Given the description of an element on the screen output the (x, y) to click on. 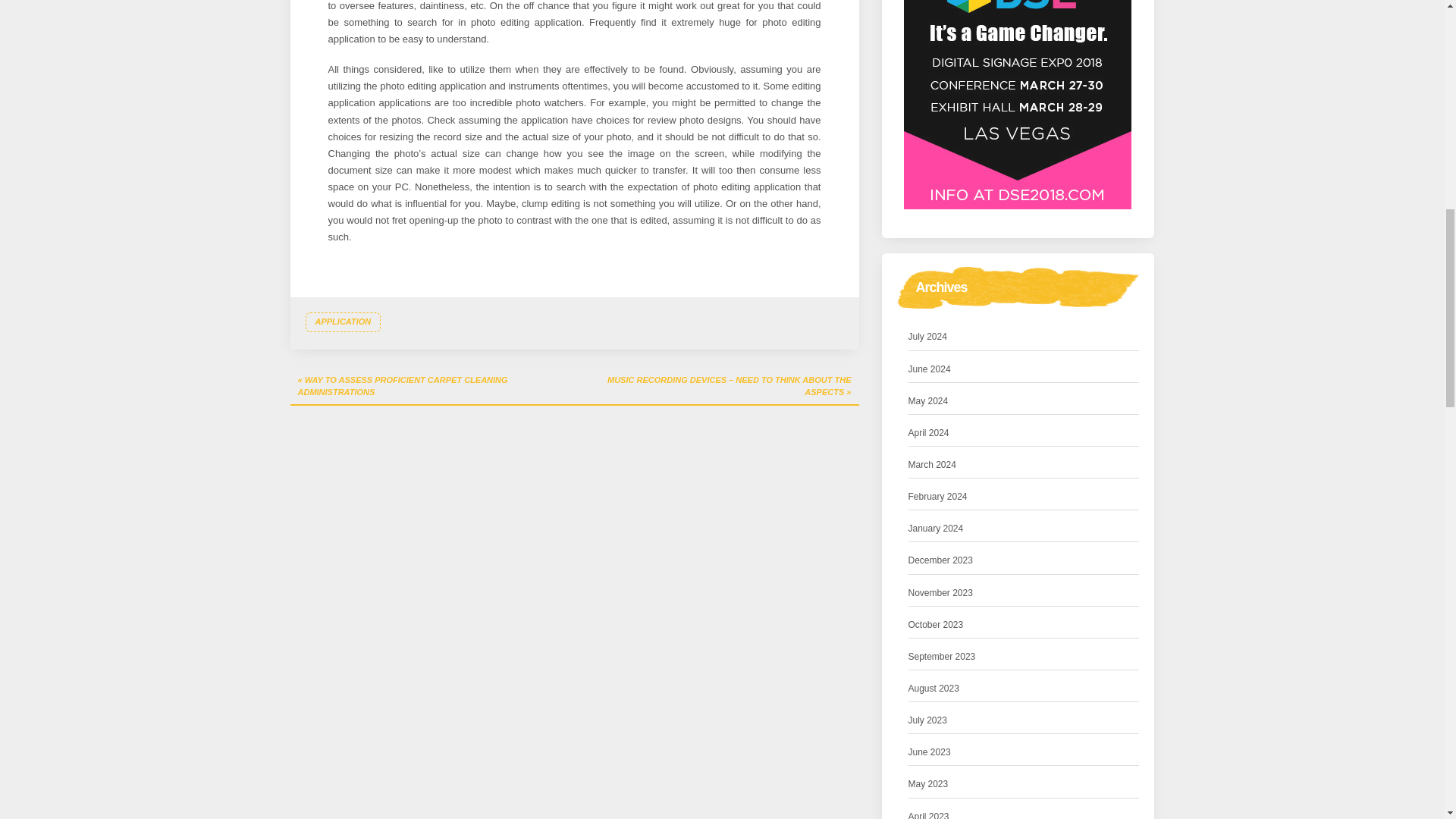
May 2023 (928, 784)
June 2024 (929, 369)
September 2023 (941, 657)
April 2024 (928, 433)
May 2024 (928, 401)
January 2024 (935, 528)
December 2023 (940, 560)
APPLICATION (342, 322)
October 2023 (935, 625)
WAY TO ASSESS PROFICIENT CARPET CLEANING ADMINISTRATIONS (431, 386)
August 2023 (933, 688)
June 2023 (929, 752)
February 2024 (938, 496)
July 2024 (927, 336)
July 2023 (927, 720)
